Given the description of an element on the screen output the (x, y) to click on. 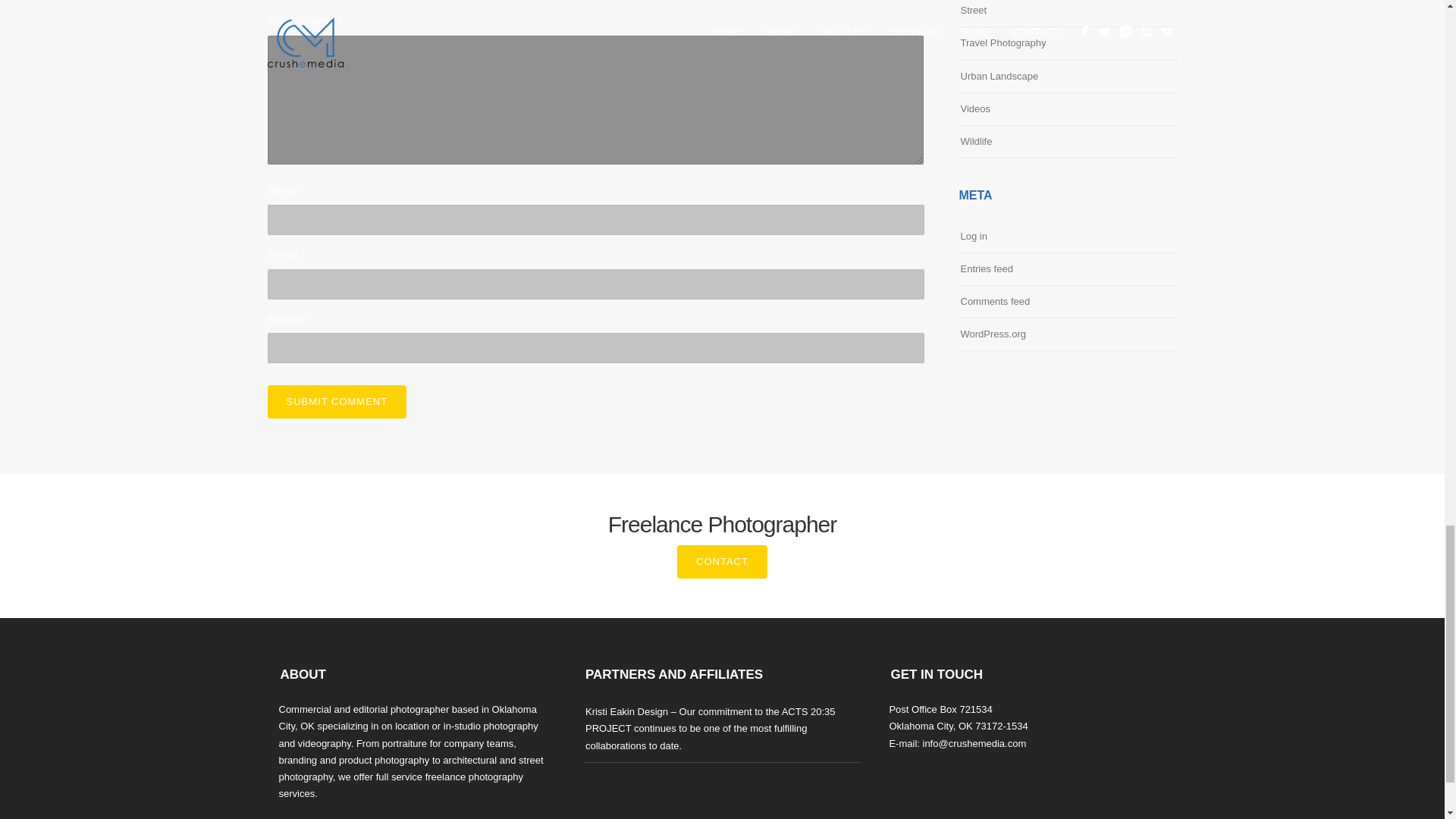
Submit comment (336, 401)
Submit comment (336, 401)
